Given the description of an element on the screen output the (x, y) to click on. 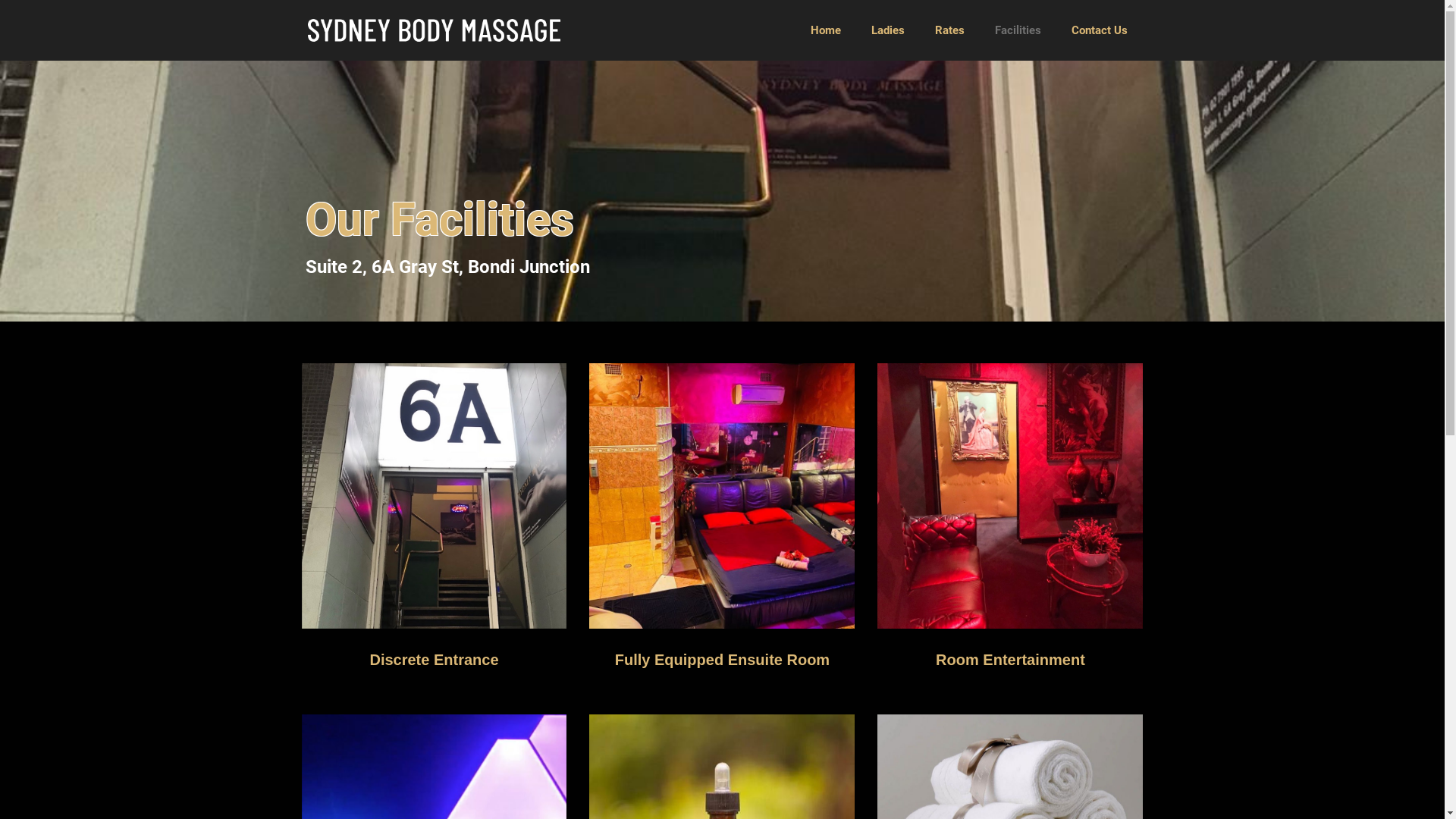
Home Element type: text (825, 30)
Contact Us Element type: text (1099, 30)
Ladies Element type: text (887, 30)
Facilities Element type: text (1017, 30)
Rates Element type: text (949, 30)
